Given the description of an element on the screen output the (x, y) to click on. 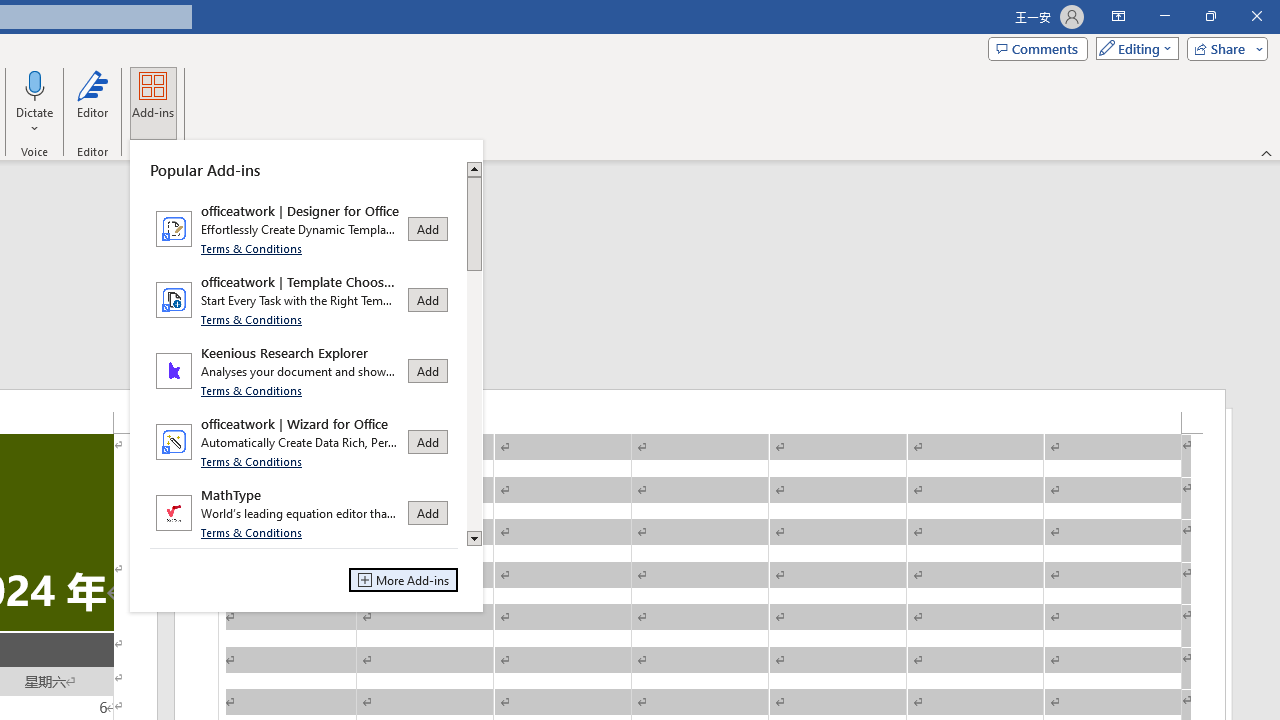
Page down (473, 400)
Add (428, 512)
More Add-ins (403, 579)
officeatwork | Designer for Office (303, 228)
Class: Net UI Tool Window (306, 375)
